Given the description of an element on the screen output the (x, y) to click on. 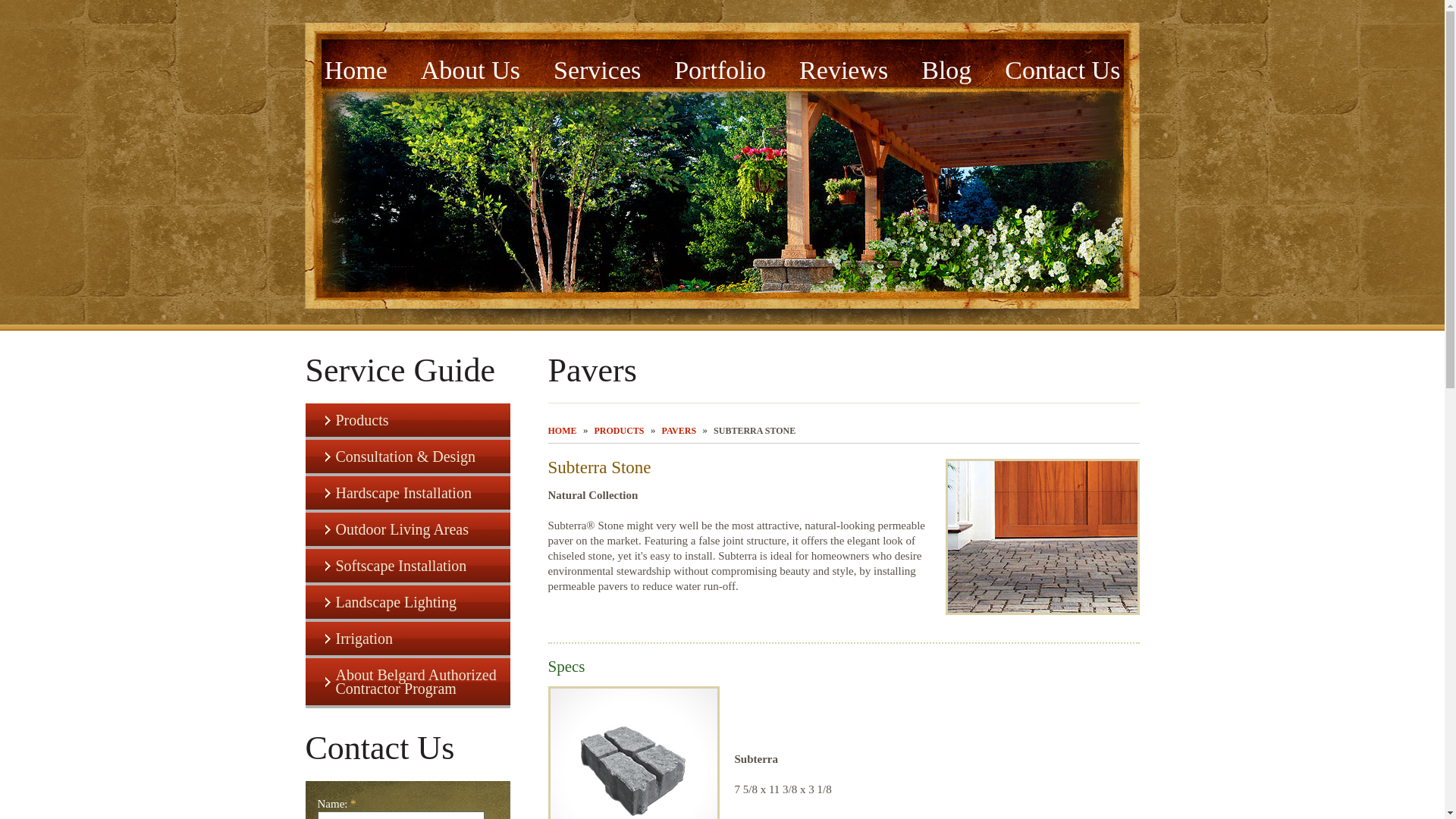
Landscape Lighting (406, 602)
Outdoor Living Areas (406, 529)
Irrigation (406, 638)
Contact Us (1062, 64)
PAVERS (679, 430)
Reviews (843, 64)
HOME (561, 430)
Portfolio (720, 64)
About Belgard Authorized Contractor Program (406, 681)
Home (355, 64)
